Given the description of an element on the screen output the (x, y) to click on. 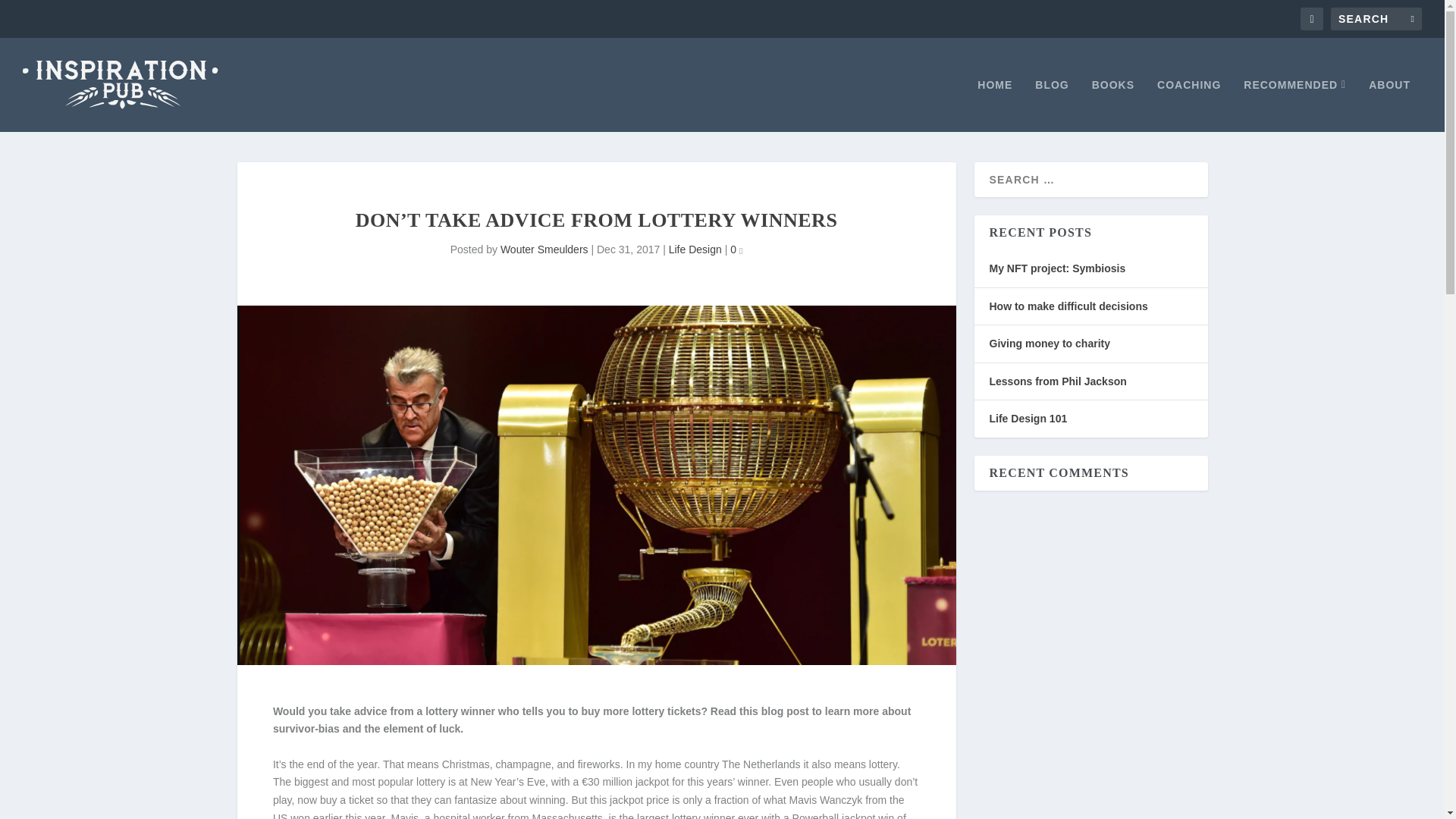
Life Design (695, 249)
Wouter Smeulders (544, 249)
Lessons from Phil Jackson (1056, 381)
Search (31, 13)
My NFT project: Symbiosis (1056, 268)
Giving money to charity (1048, 343)
0 (736, 249)
RECOMMENDED (1294, 104)
How to make difficult decisions (1067, 306)
Life Design 101 (1027, 418)
COACHING (1189, 104)
Search for: (1376, 18)
Posts by Wouter Smeulders (544, 249)
